Given the description of an element on the screen output the (x, y) to click on. 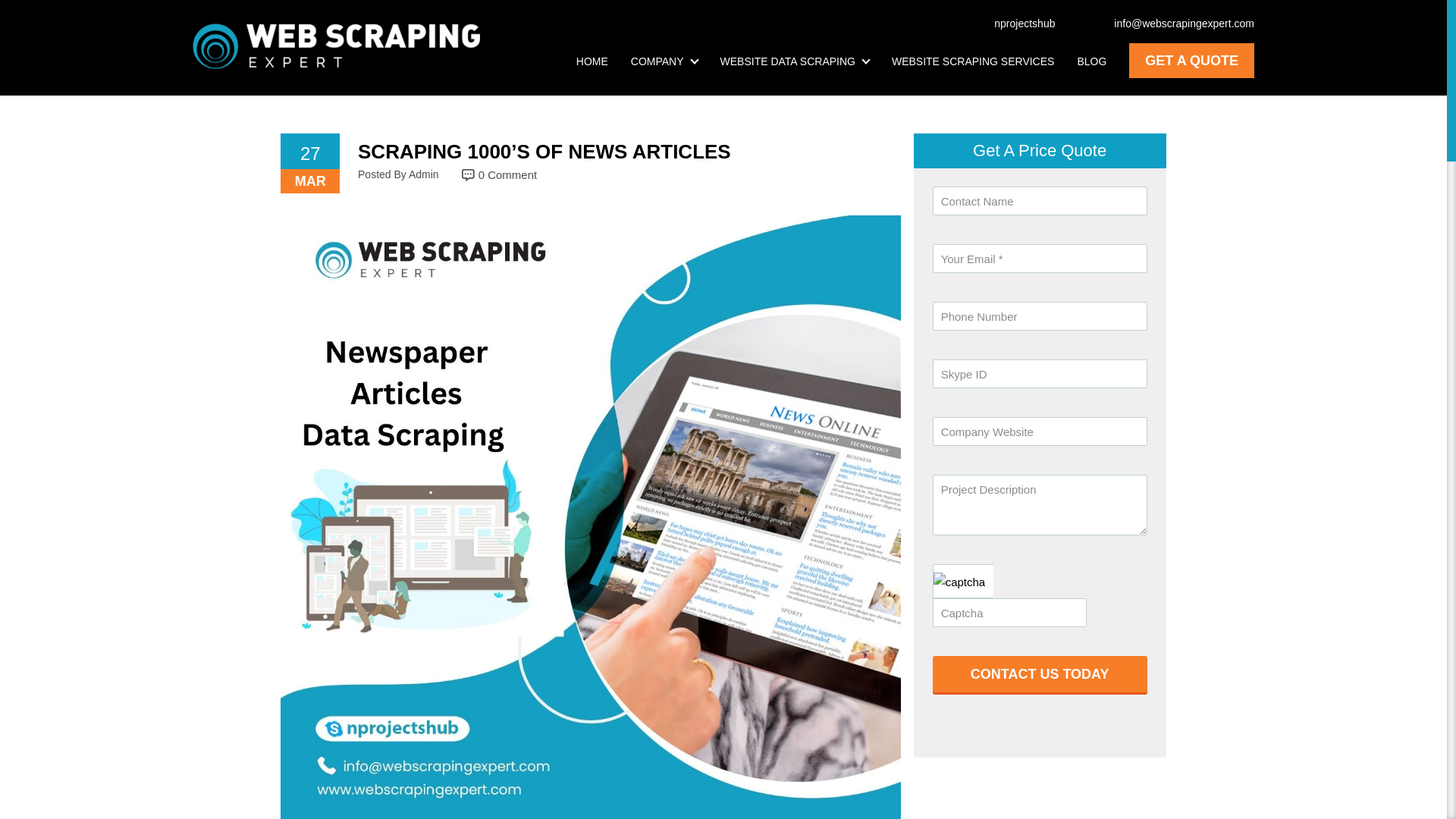
Contact Us Today (1040, 675)
Web Scraping Expert (336, 45)
HOME (592, 61)
nprojectshub (1016, 23)
